Given the description of an element on the screen output the (x, y) to click on. 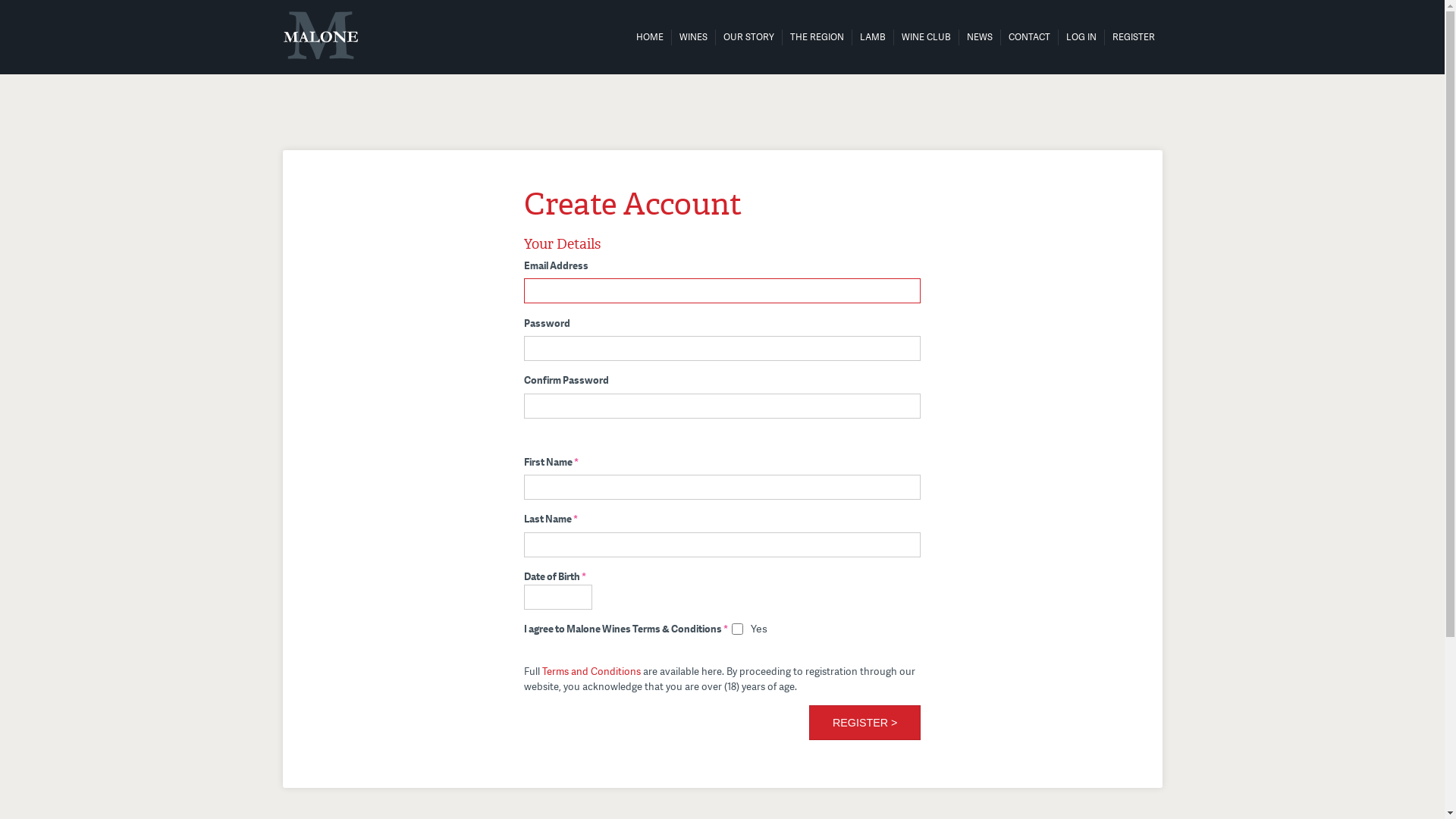
Malone Wines Element type: hover (319, 34)
REGISTER Element type: text (1132, 37)
NEWS Element type: text (978, 37)
Terms and Conditions Element type: text (591, 671)
LAMB Element type: text (872, 37)
HOME Element type: text (648, 37)
CONTACT Element type: text (1029, 37)
THE REGION Element type: text (816, 37)
WINE CLUB Element type: text (925, 37)
OUR STORY Element type: text (748, 37)
WINES Element type: text (693, 37)
Register > Element type: text (864, 722)
LOG IN Element type: text (1081, 37)
